Given the description of an element on the screen output the (x, y) to click on. 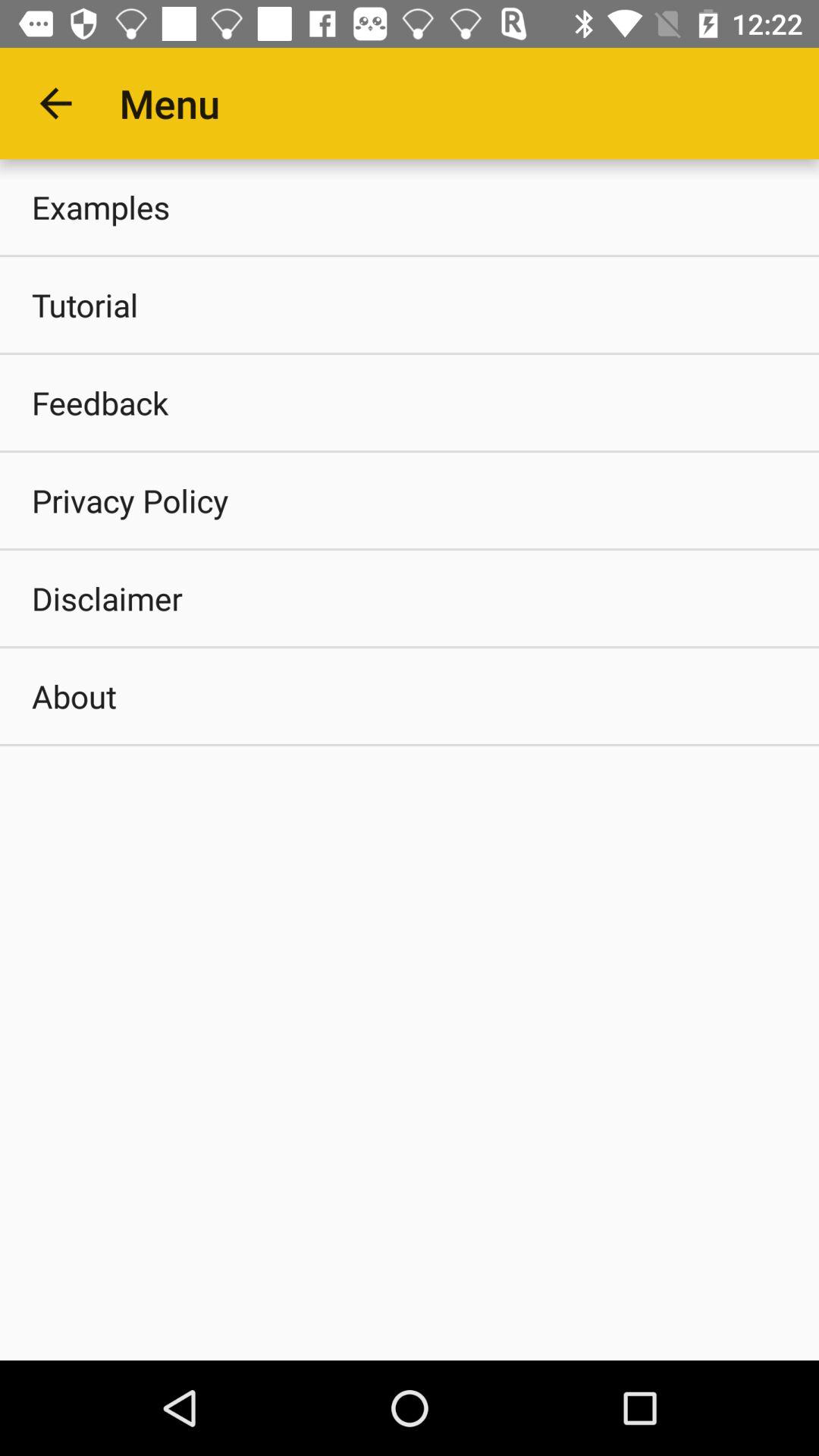
press icon above tutorial icon (409, 206)
